Given the description of an element on the screen output the (x, y) to click on. 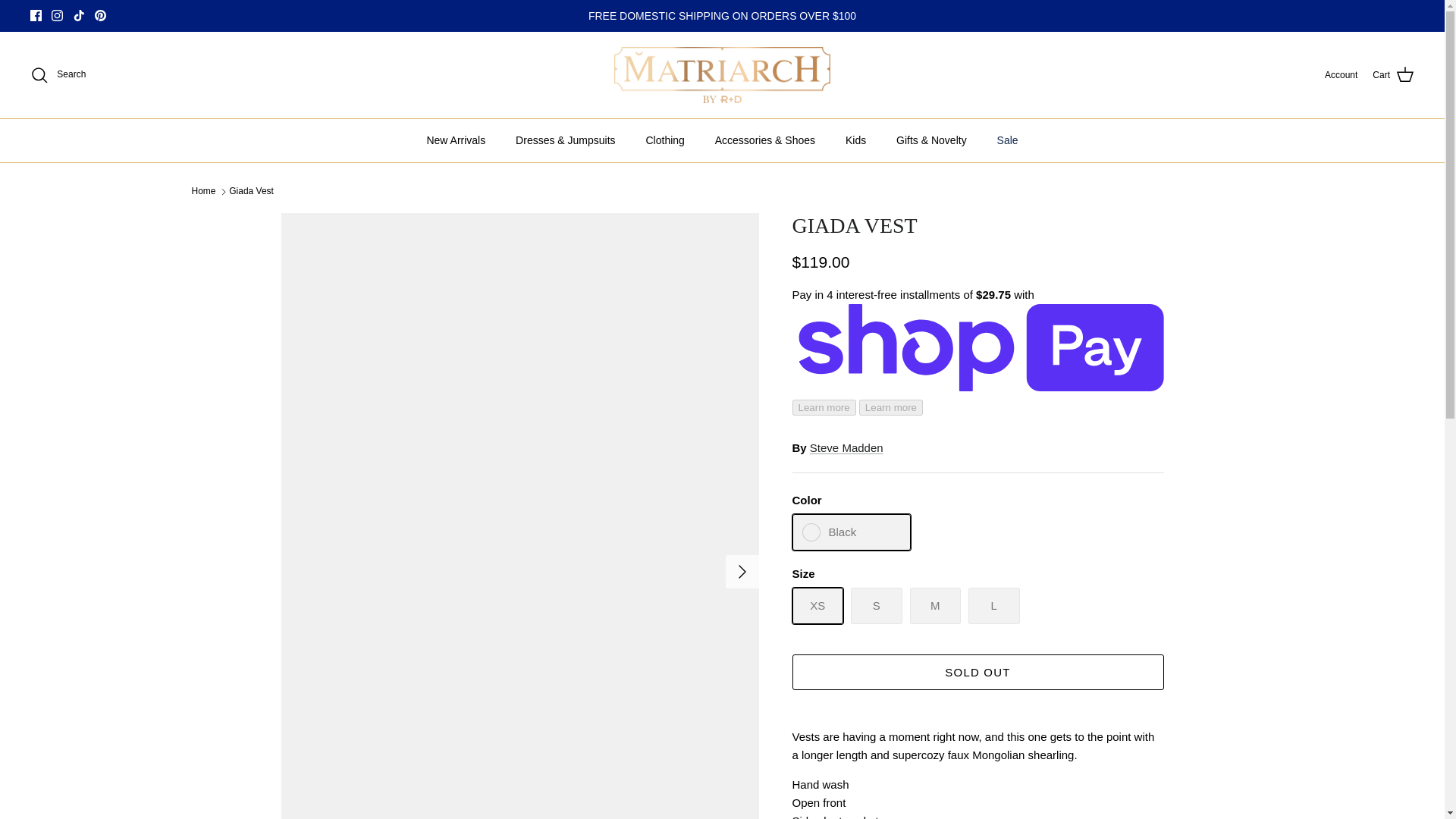
Facebook (36, 15)
Clothing (664, 140)
Pinterest (100, 15)
Account (1340, 74)
Instagram (56, 15)
Instagram (56, 15)
RIGHT (741, 571)
Search (57, 75)
New Arrivals (455, 140)
Pinterest (100, 15)
